Given the description of an element on the screen output the (x, y) to click on. 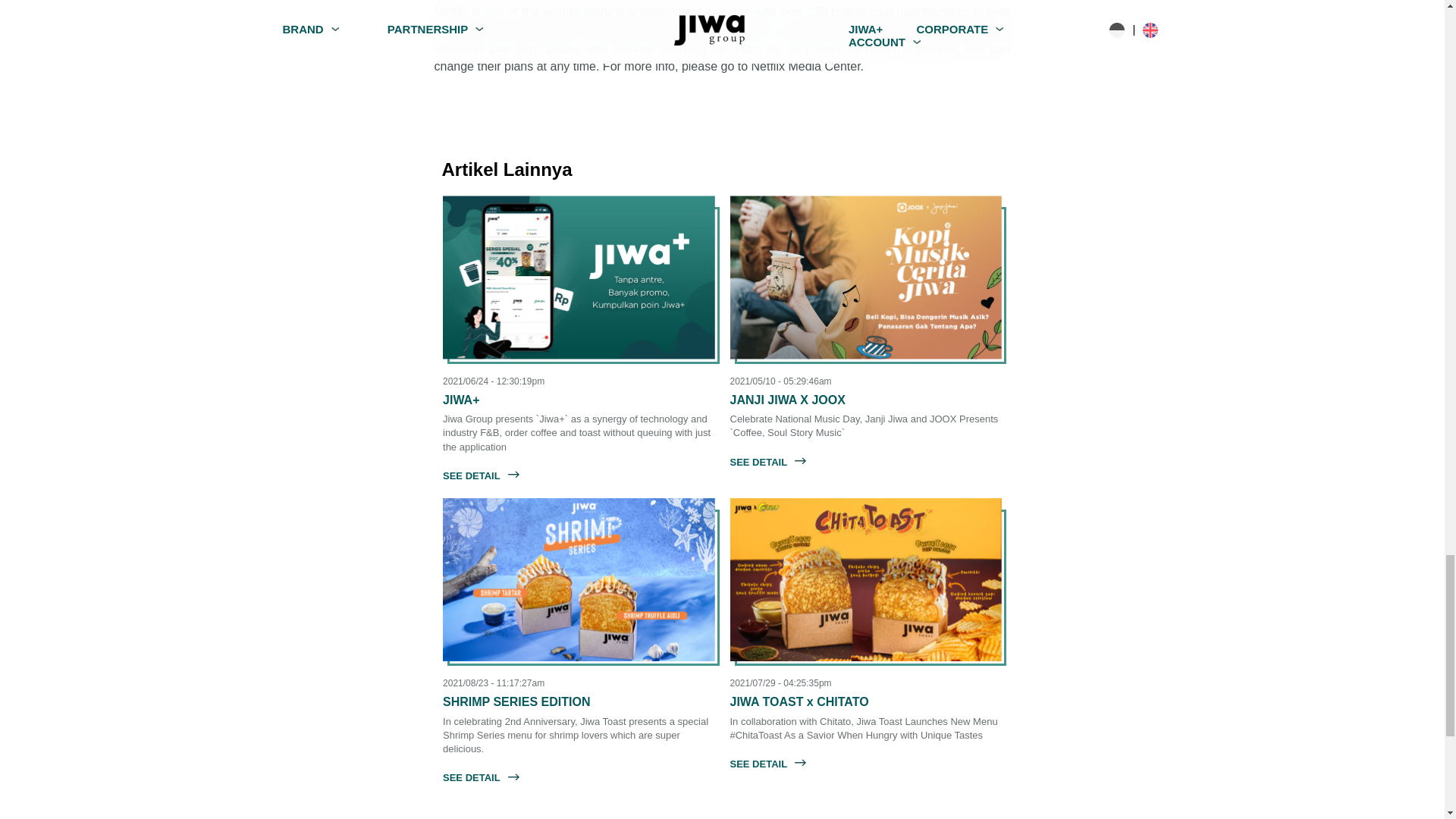
SEE DETAIL (767, 762)
SEE DETAIL (480, 474)
SEE DETAIL (767, 460)
SEE DETAIL (480, 775)
